Given the description of an element on the screen output the (x, y) to click on. 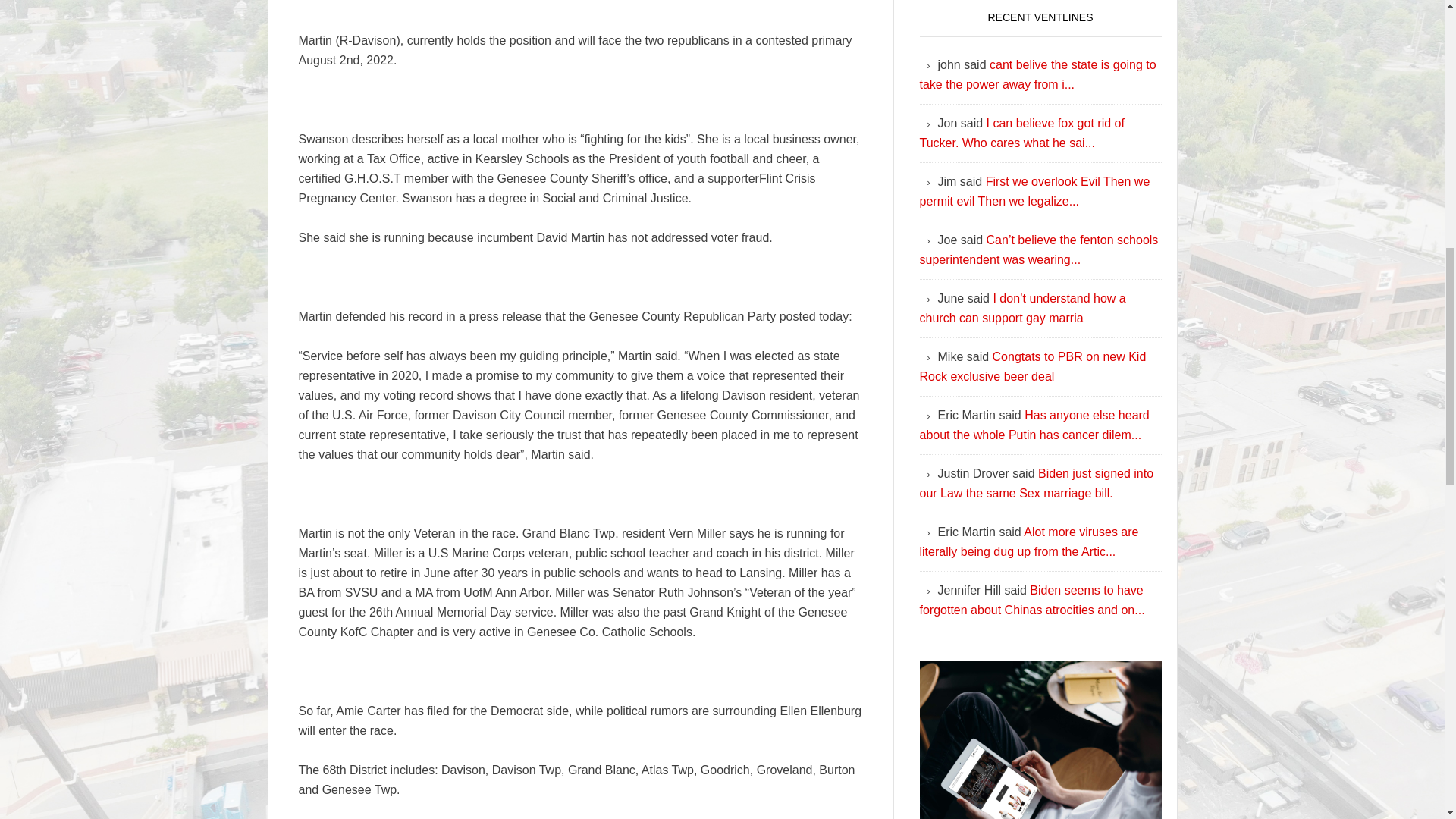
Biden just signed into our Law the same Sex marriage bill. (1035, 482)
Congtats to PBR on new Kid Rock exclusive beer deal (1031, 366)
